Given the description of an element on the screen output the (x, y) to click on. 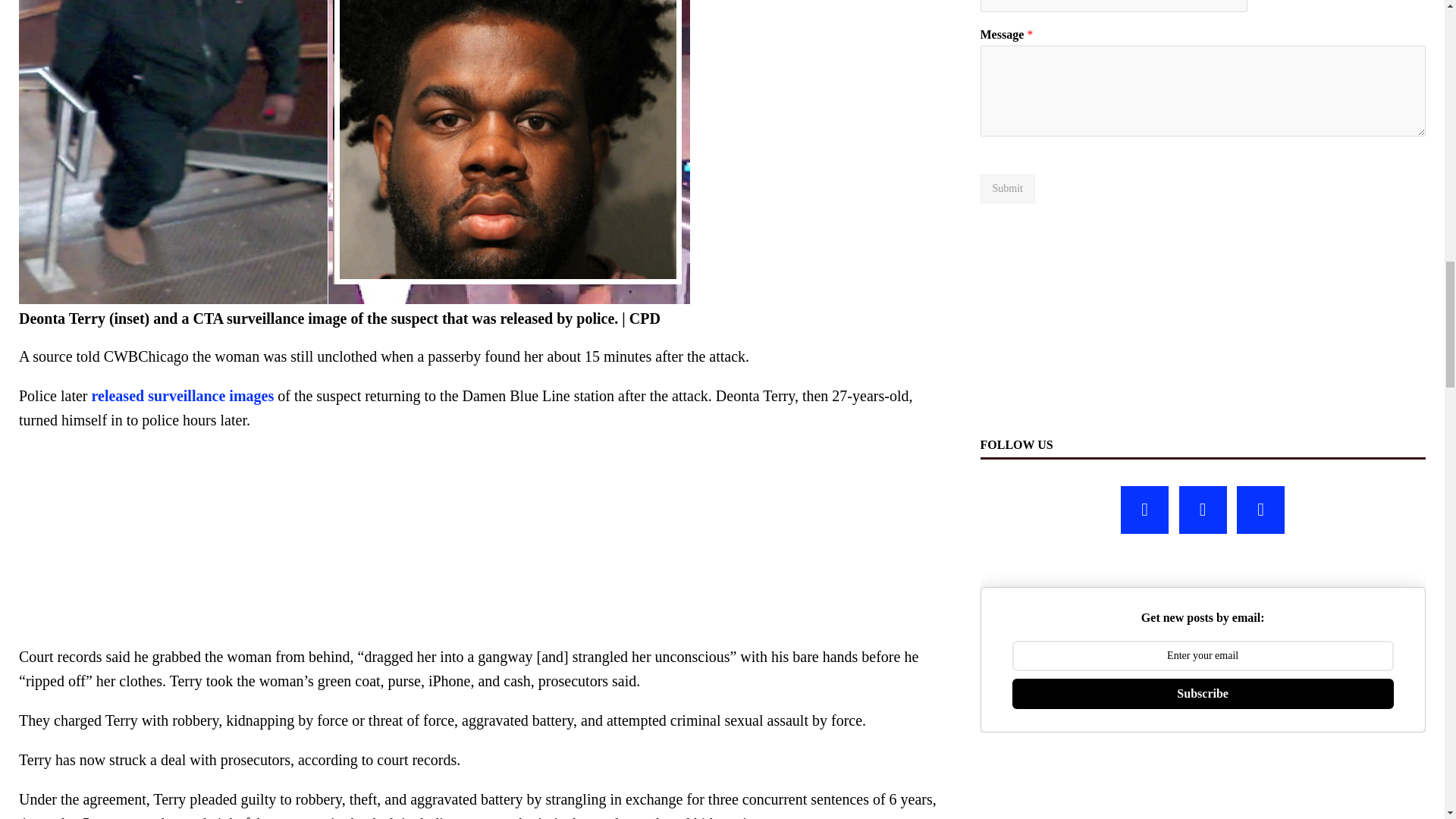
Subscribe (1202, 693)
Submit (1007, 188)
released surveillance images (183, 395)
